Given the description of an element on the screen output the (x, y) to click on. 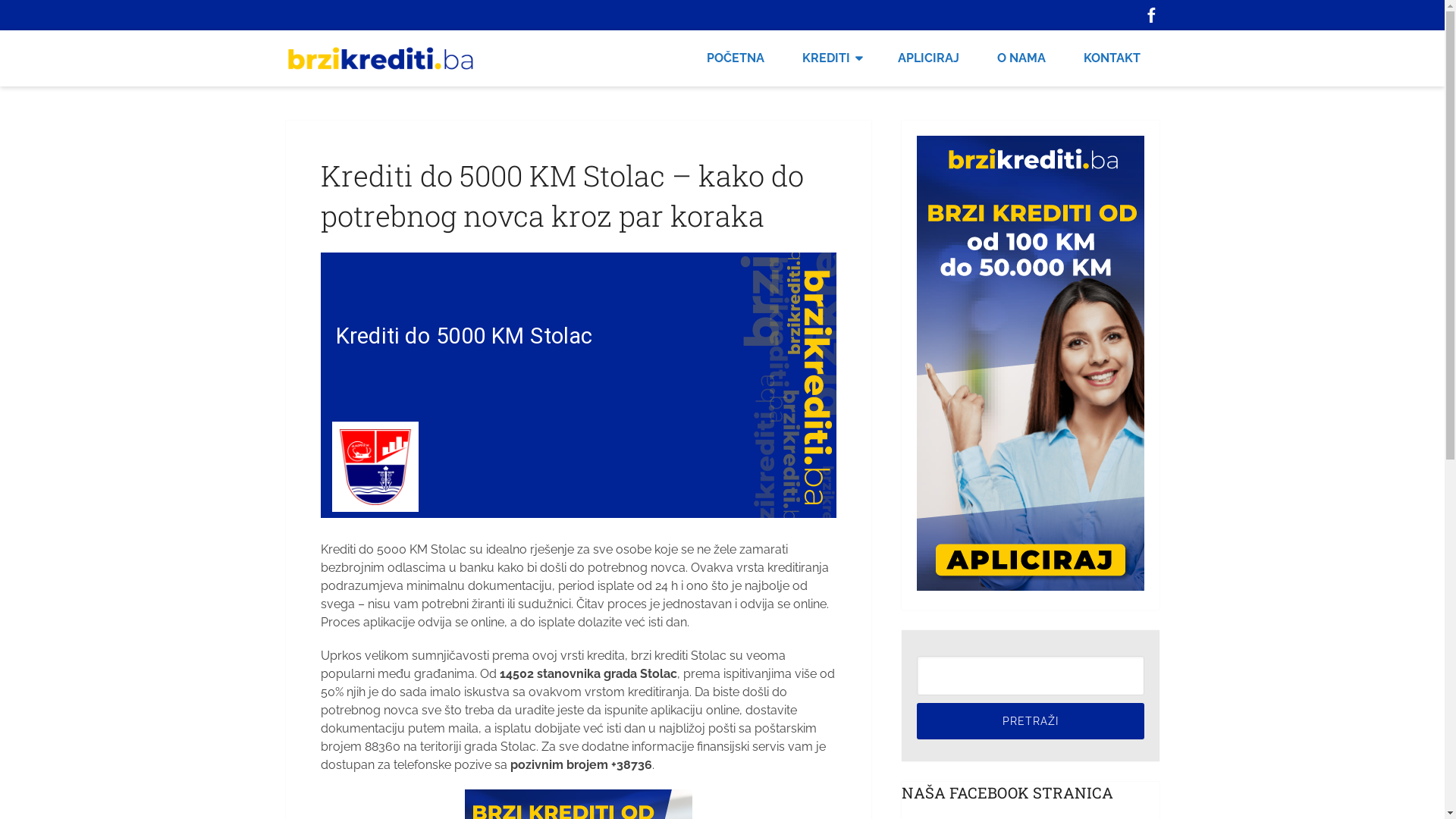
Krediti do 5000 KM Stolac Element type: hover (577, 384)
O NAMA Element type: text (1021, 58)
KREDITI Element type: text (830, 58)
KONTAKT Element type: text (1111, 58)
APLICIRAJ Element type: text (927, 58)
